Given the description of an element on the screen output the (x, y) to click on. 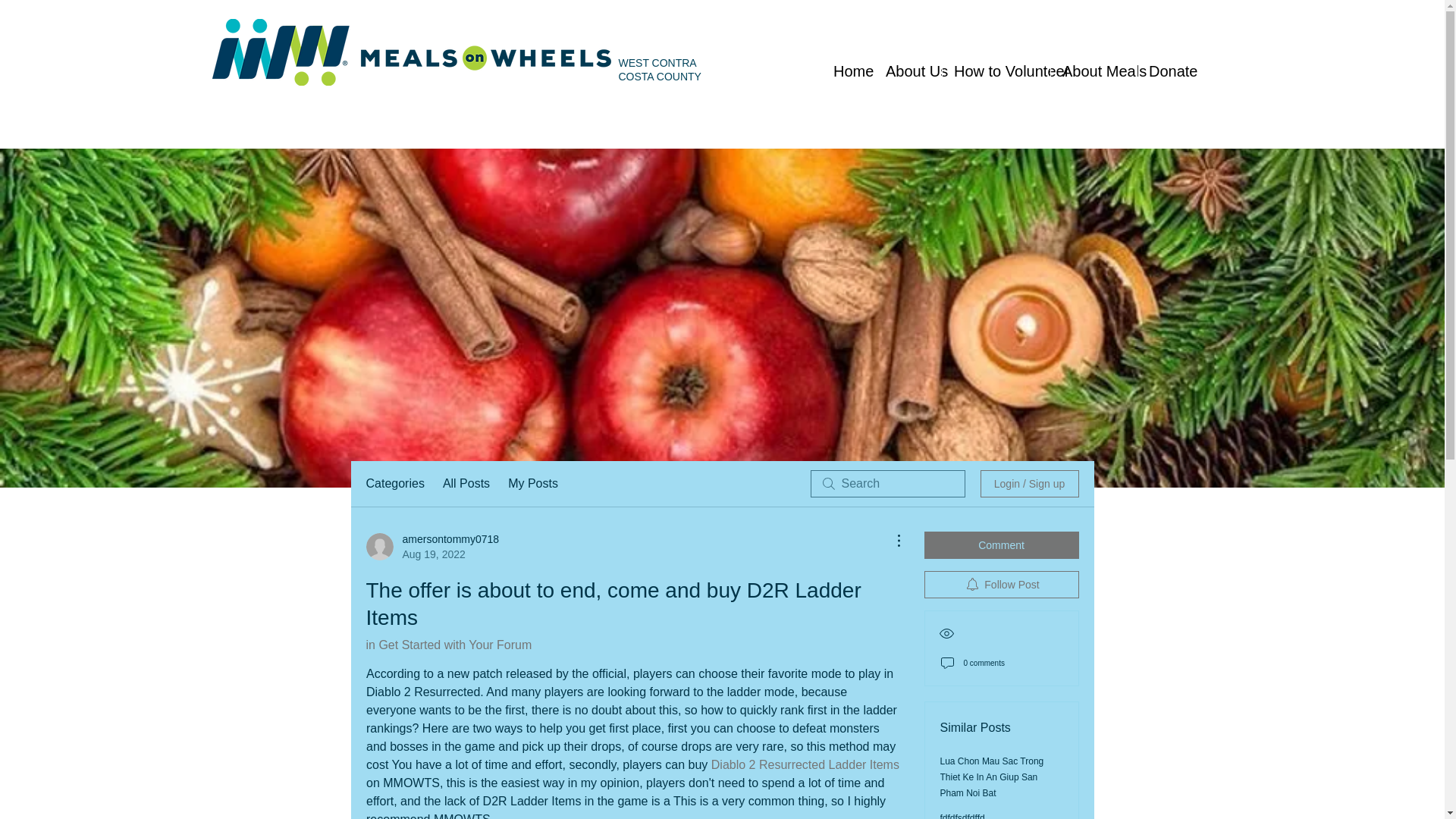
All Posts (465, 484)
Meals on Wheels West Contra Costa Region (412, 51)
Lua Chon Mau Sac Trong Thiet Ke In An Giup San Pham Noi Bat (991, 776)
Comment (1000, 544)
About Us (907, 70)
Categories (394, 484)
Diablo 2 Resurrected Ladder Items (804, 764)
in Get Started with Your Forum (448, 644)
How to Volunteer (995, 70)
About Meals (1093, 70)
